Given the description of an element on the screen output the (x, y) to click on. 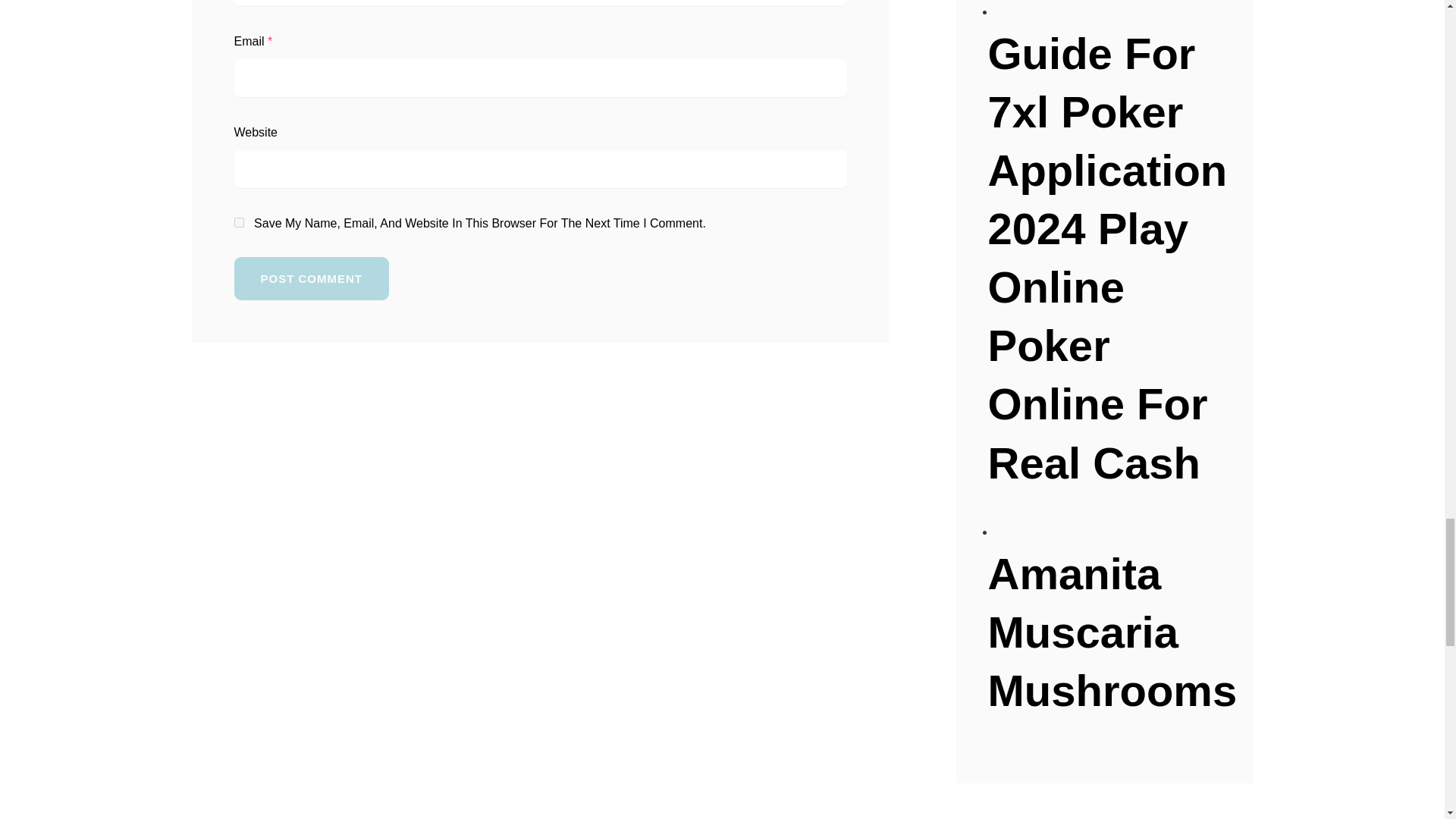
yes (237, 222)
Post Comment (310, 278)
Post Comment (310, 278)
